Given the description of an element on the screen output the (x, y) to click on. 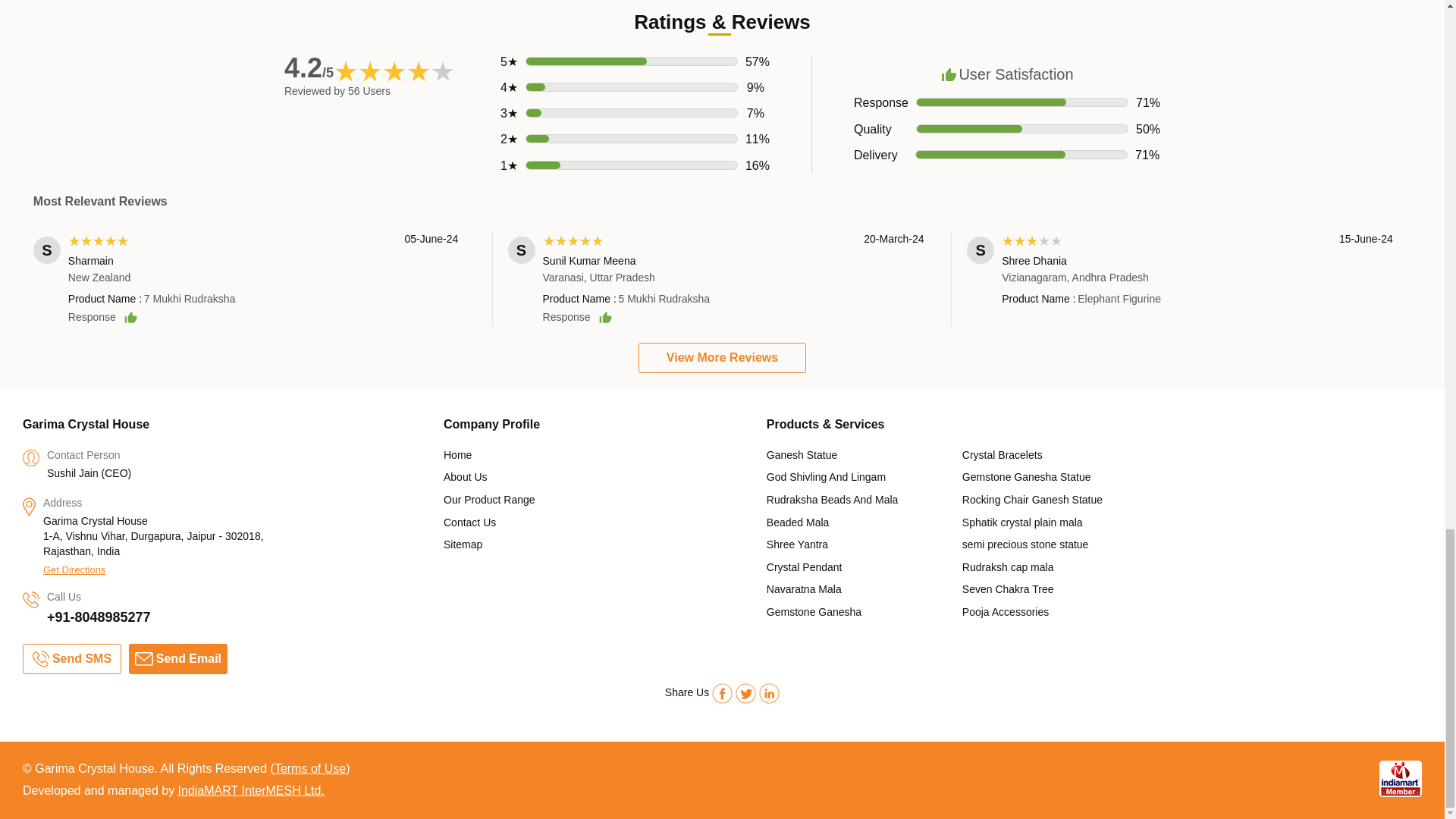
4.2 out of 5 Votes (308, 67)
